Given the description of an element on the screen output the (x, y) to click on. 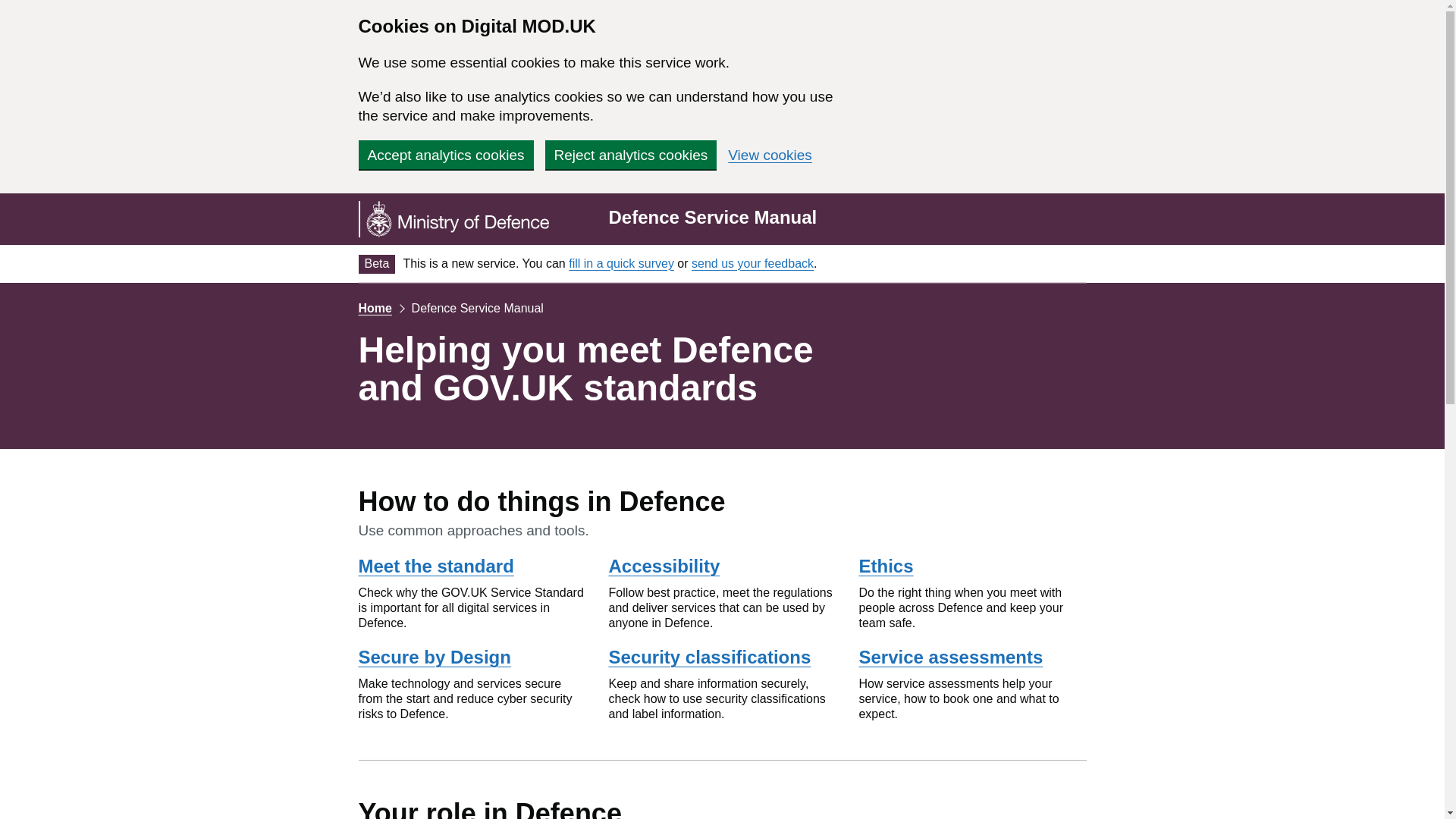
Accept analytics cookies (445, 154)
Ethics (885, 566)
View cookies (770, 155)
send us your feedback (752, 263)
Meet the standard (435, 566)
Home (374, 308)
Secure by Design (434, 657)
Accessibility (663, 566)
Service assessments (950, 657)
Security classifications (709, 657)
fill in a quick survey (621, 263)
Reject analytics cookies (630, 154)
